Given the description of an element on the screen output the (x, y) to click on. 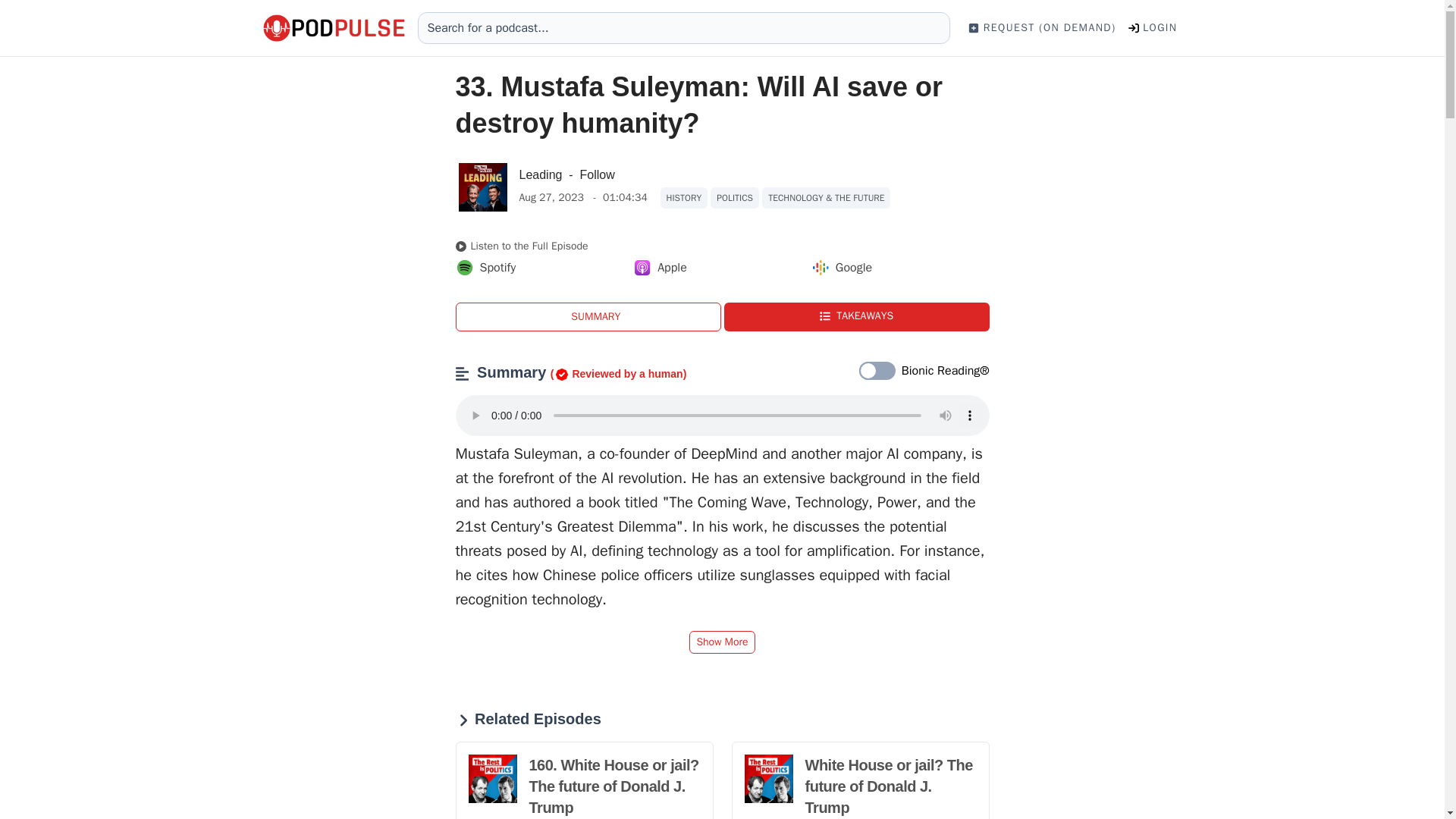
Show More (721, 641)
White House or jail? The future of Donald J. Trump (859, 780)
Apple (660, 267)
Leading (540, 174)
POLITICS (734, 197)
Follow (596, 175)
 TAKEAWAYS (855, 316)
LOGIN (1152, 27)
160. White House or jail? The future of Donald J. Trump (583, 780)
Google (841, 267)
on (877, 371)
 SUMMARY (587, 316)
HISTORY (684, 197)
Spotify (484, 267)
